Given the description of an element on the screen output the (x, y) to click on. 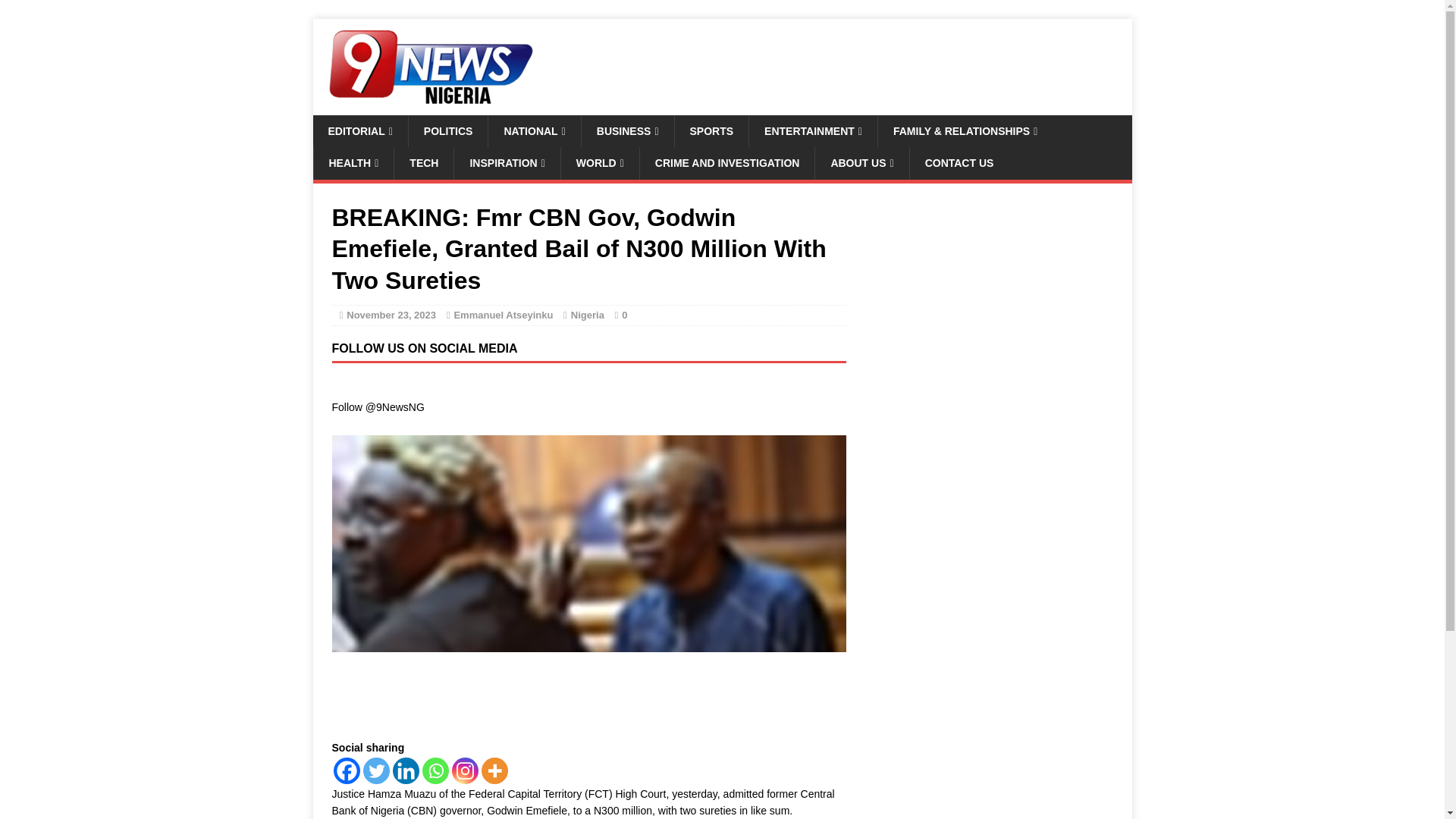
Emmanuel Atseyinku (502, 315)
Facebook (346, 770)
TECH (422, 163)
NATIONAL (533, 131)
Instagram (465, 770)
CRIME AND INVESTIGATION (727, 163)
Twitter (375, 770)
Nigeria (587, 315)
SPORTS (711, 131)
EDITORIAL (360, 131)
ABOUT US (860, 163)
November 23, 2023 (390, 315)
0 (624, 315)
Linkedin (406, 770)
INSPIRATION (505, 163)
